Given the description of an element on the screen output the (x, y) to click on. 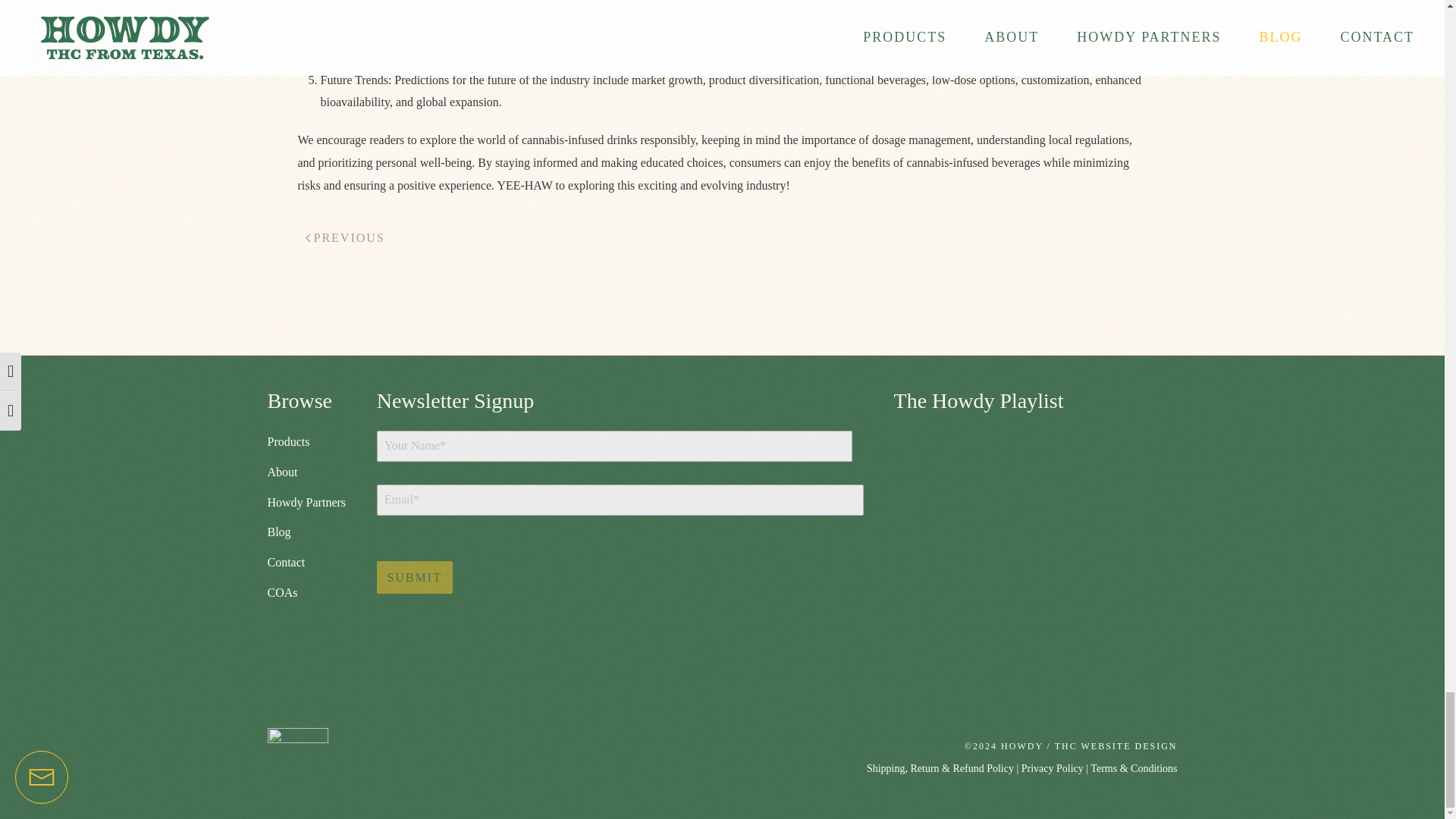
PREVIOUS (344, 237)
About (281, 472)
Contact (285, 562)
THC WEBSITE DESIGN (1115, 746)
SUBMIT (414, 577)
Howdy Partners (306, 502)
COAs (281, 592)
Products (287, 440)
Privacy Policy (1052, 767)
Blog (277, 531)
